Given the description of an element on the screen output the (x, y) to click on. 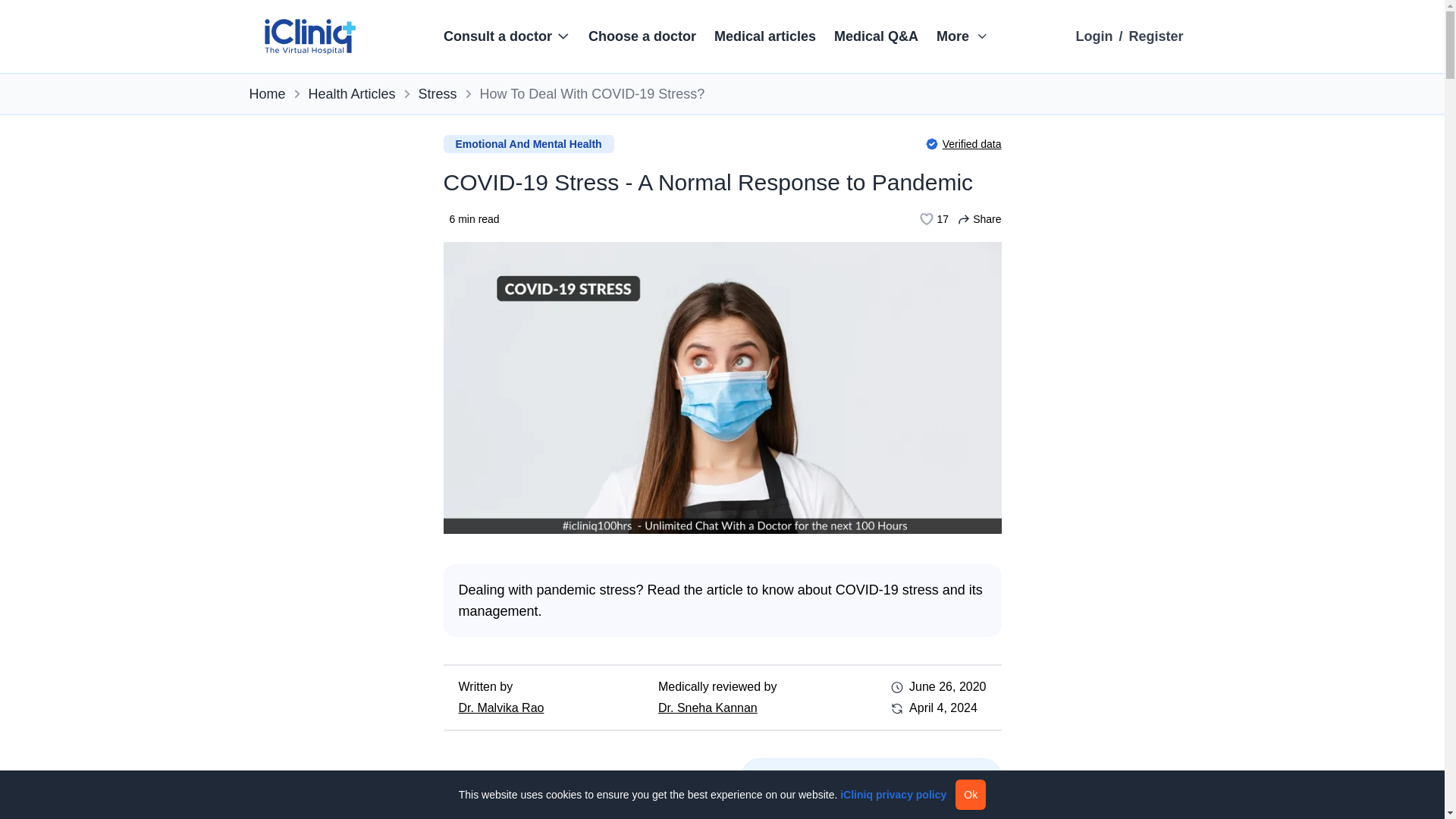
Medical articles (764, 36)
Login (1093, 36)
Register (1155, 36)
Choose a doctor (641, 36)
